Given the description of an element on the screen output the (x, y) to click on. 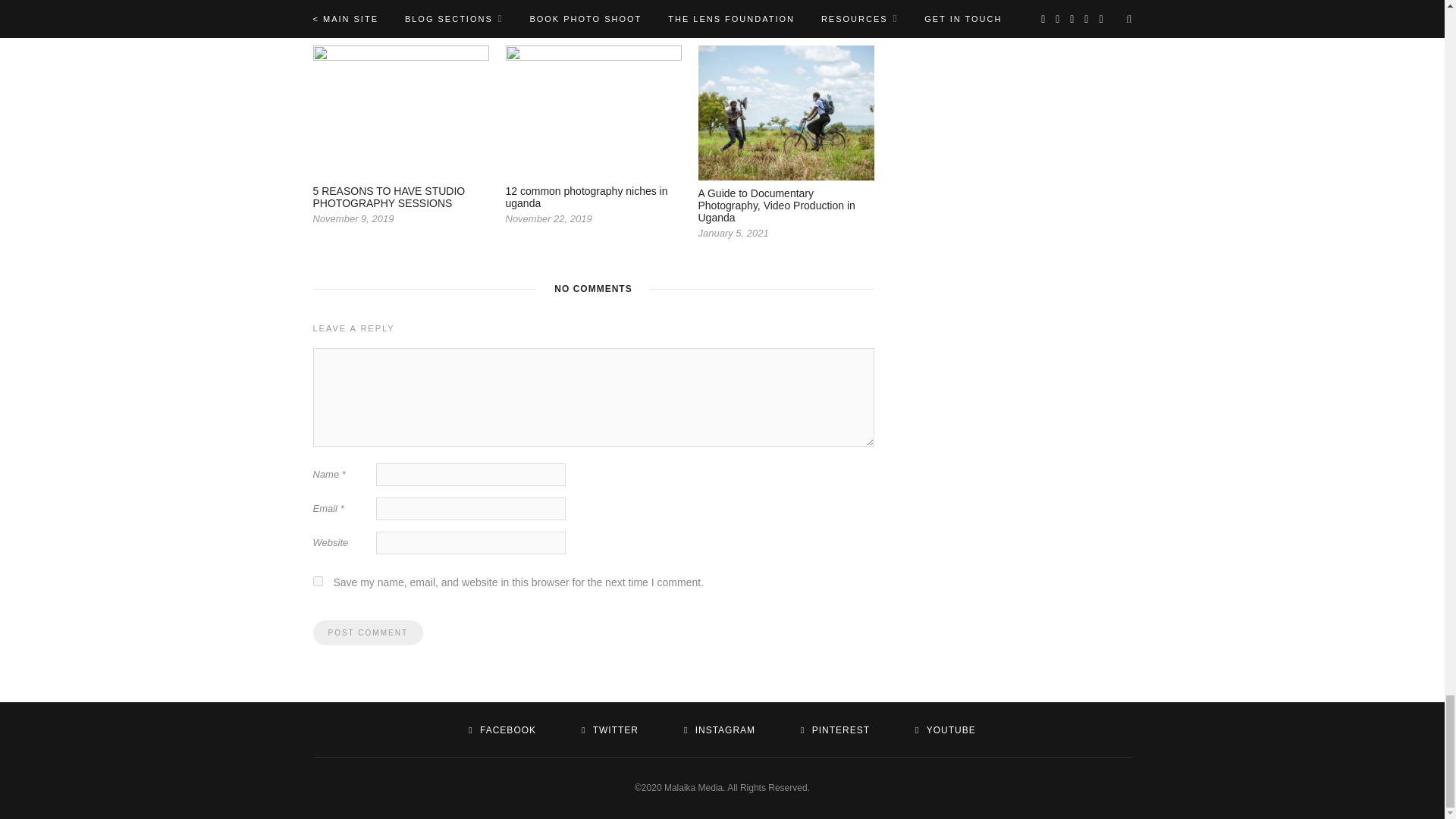
yes (317, 581)
Post Comment (367, 632)
